Given the description of an element on the screen output the (x, y) to click on. 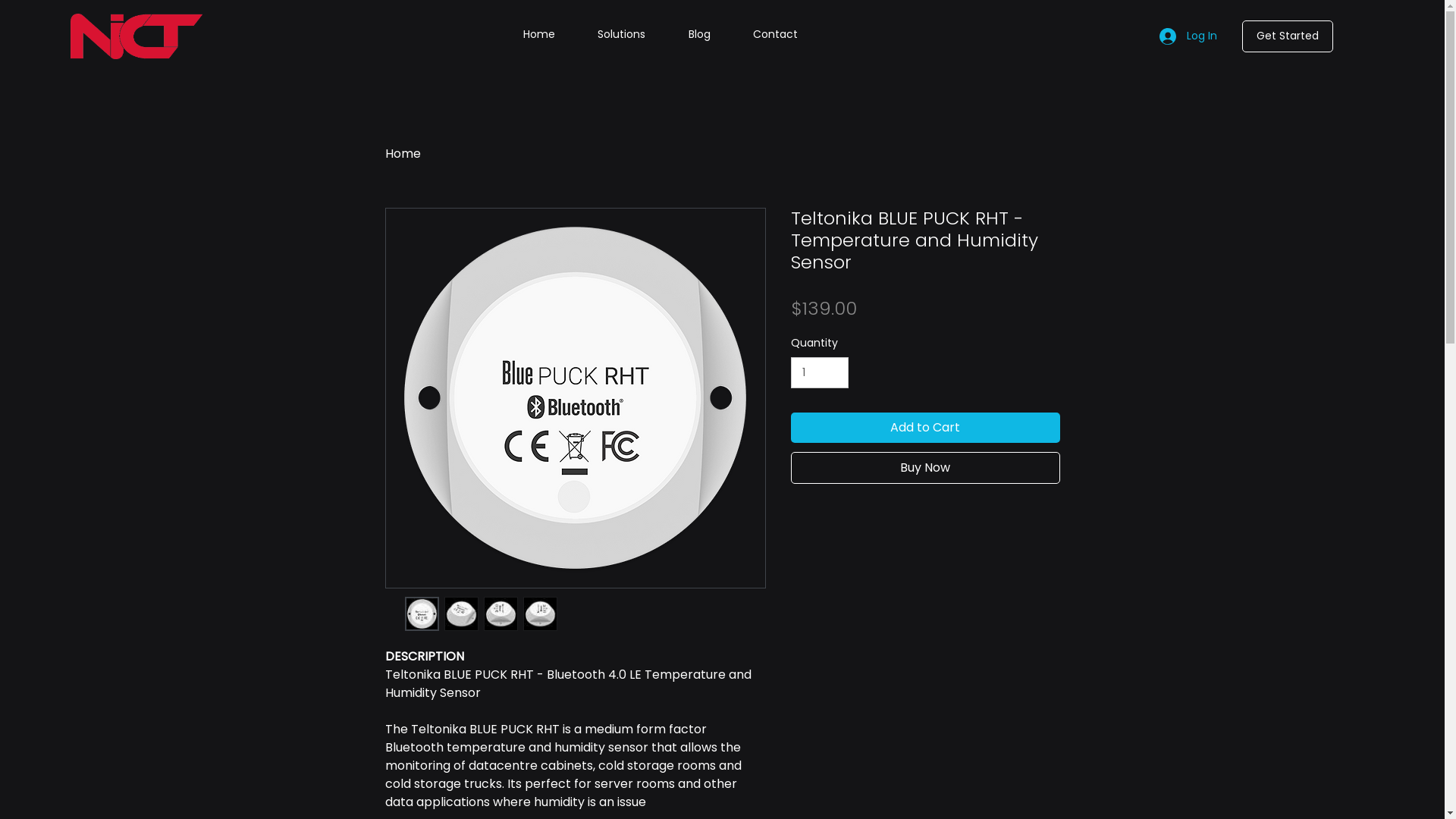
Contact Element type: text (774, 34)
Home Element type: text (539, 34)
Home Element type: text (402, 153)
Blog Element type: text (698, 34)
Solutions Element type: text (621, 34)
Buy Now Element type: text (924, 467)
Log In Element type: text (1187, 36)
Add to Cart Element type: text (924, 427)
Get Started Element type: text (1287, 36)
